Given the description of an element on the screen output the (x, y) to click on. 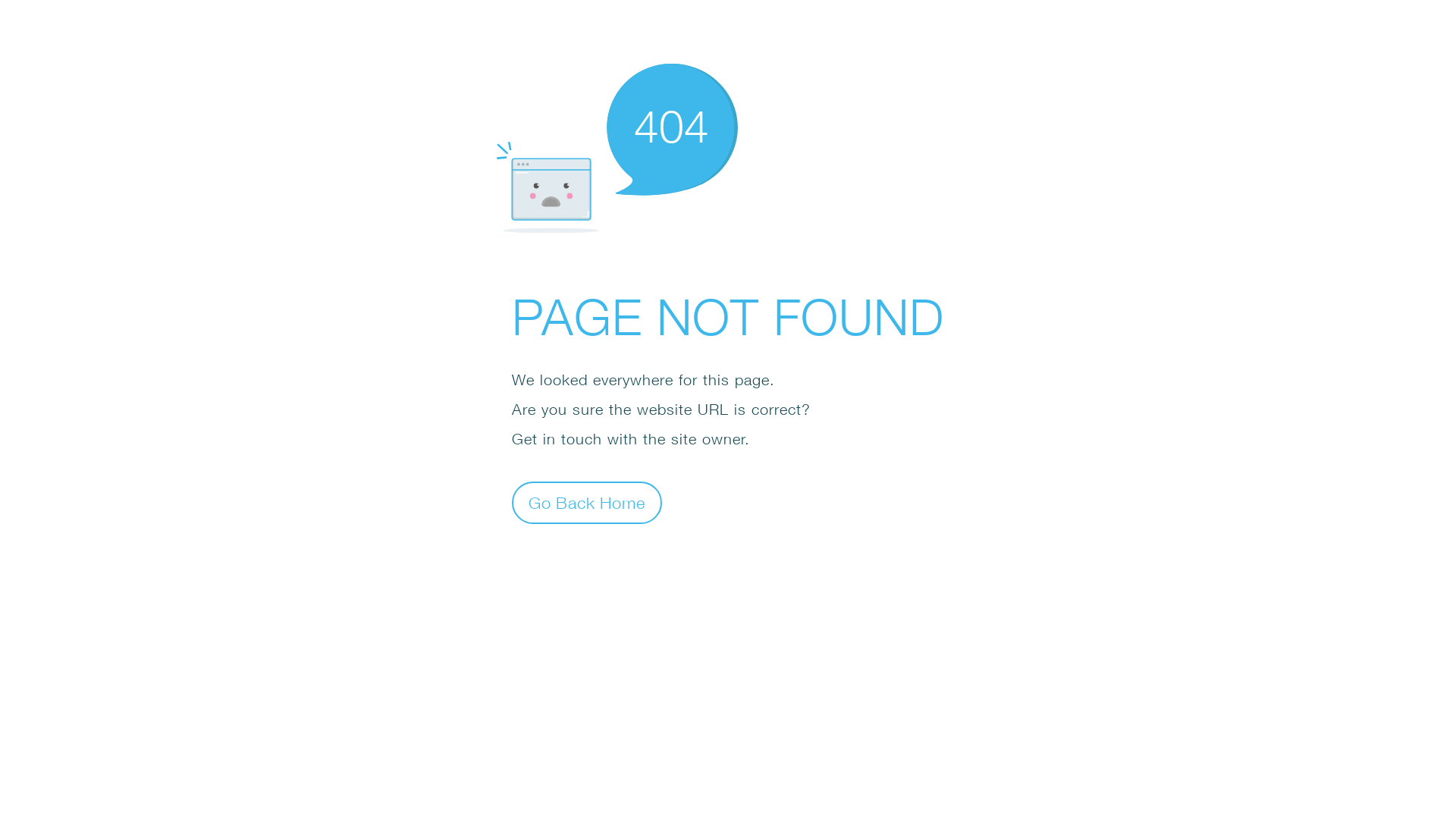
Go Back Home Element type: text (586, 502)
